Given the description of an element on the screen output the (x, y) to click on. 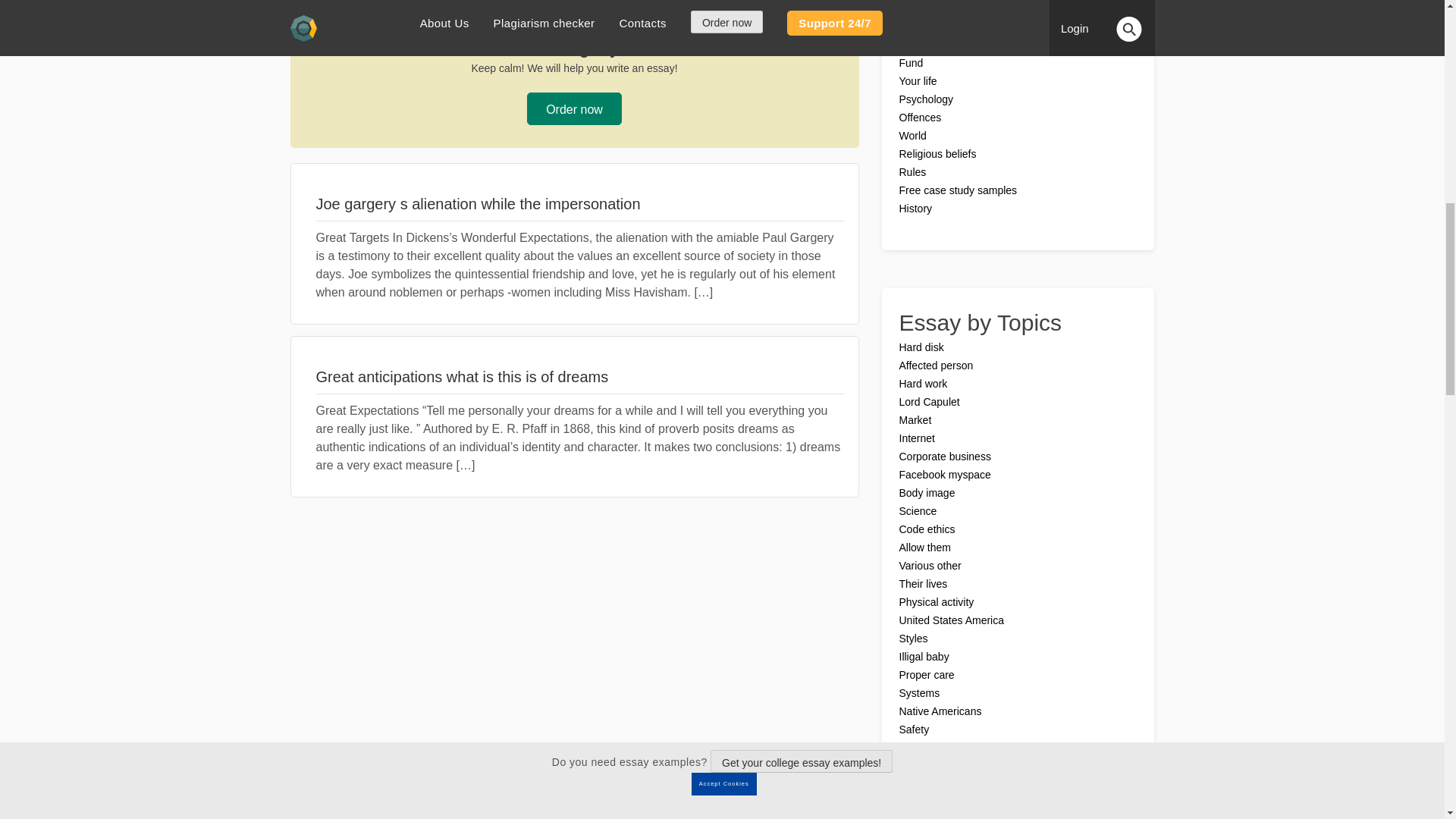
Order now (574, 108)
Joe gargery s alienation while the impersonation (579, 203)
Great anticipations what is this is of dreams (579, 376)
